Given the description of an element on the screen output the (x, y) to click on. 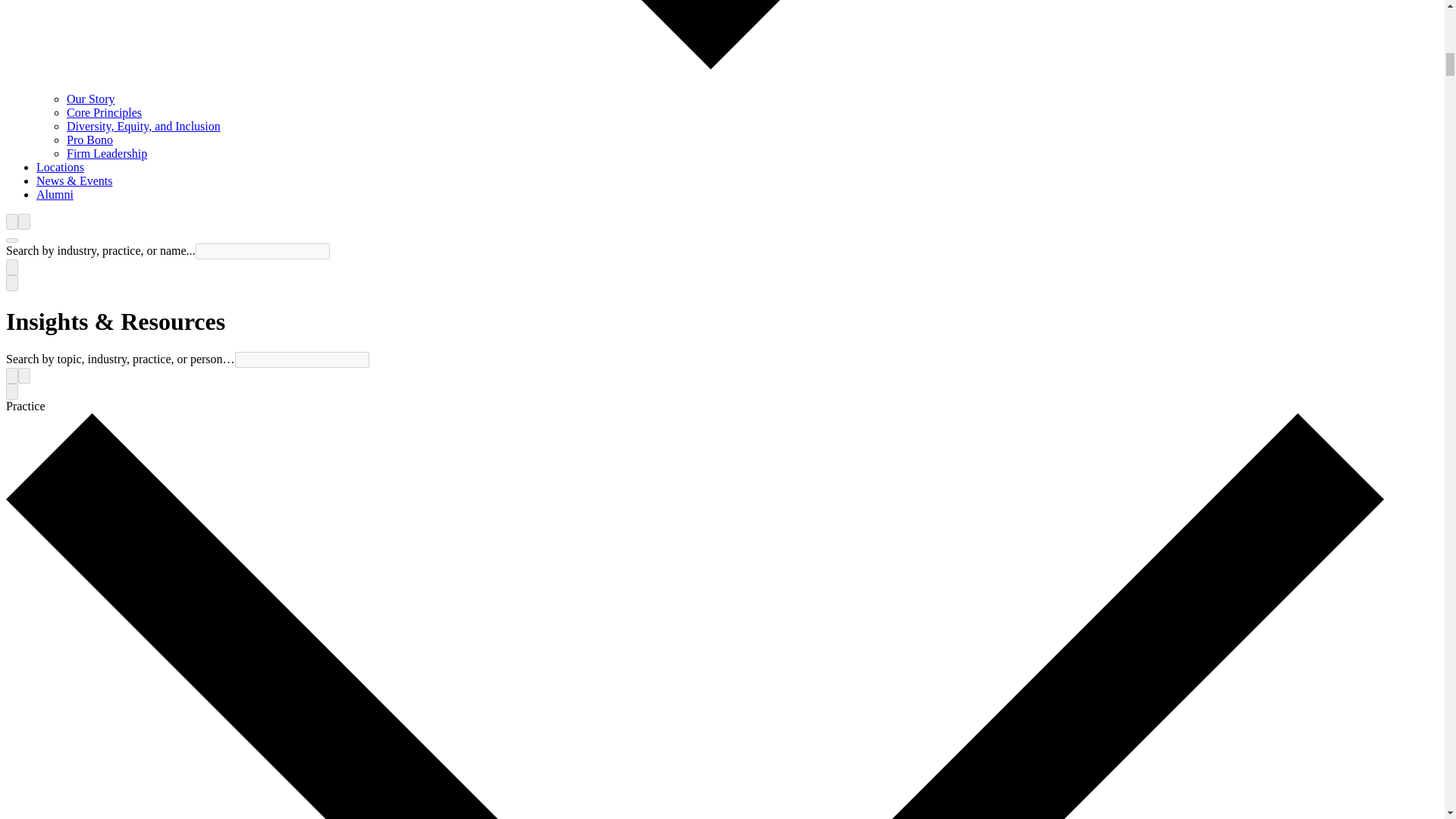
Alumni (55, 194)
Pro Bono (89, 139)
Core Principles (103, 112)
Diversity, Equity, and Inclusion (143, 125)
Locations (60, 166)
Firm Leadership (106, 153)
Our Story (90, 98)
